Given the description of an element on the screen output the (x, y) to click on. 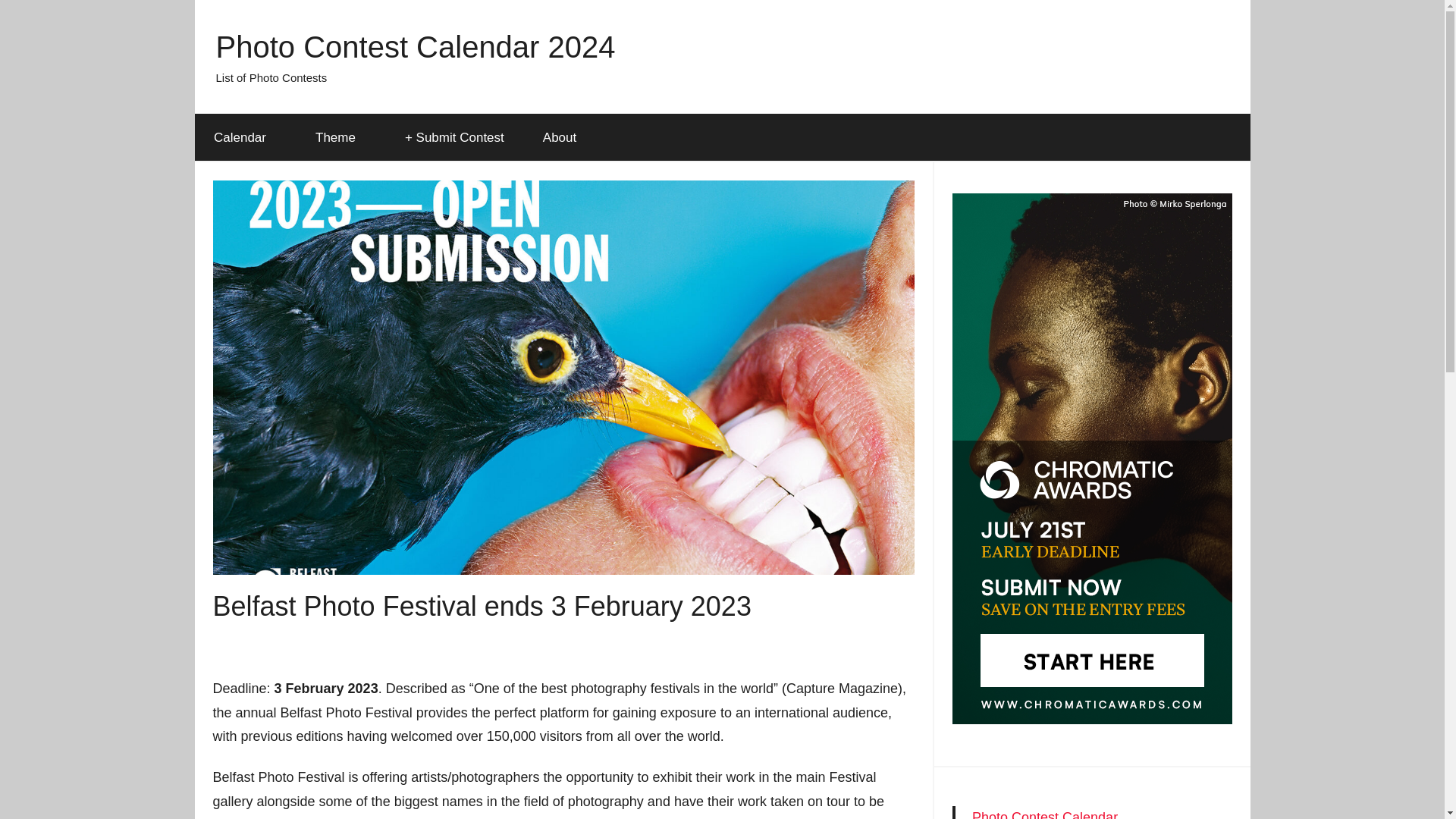
About (558, 137)
Theme (340, 137)
Photo Contest Calendar 2024 (414, 46)
Calendar (244, 137)
